Given the description of an element on the screen output the (x, y) to click on. 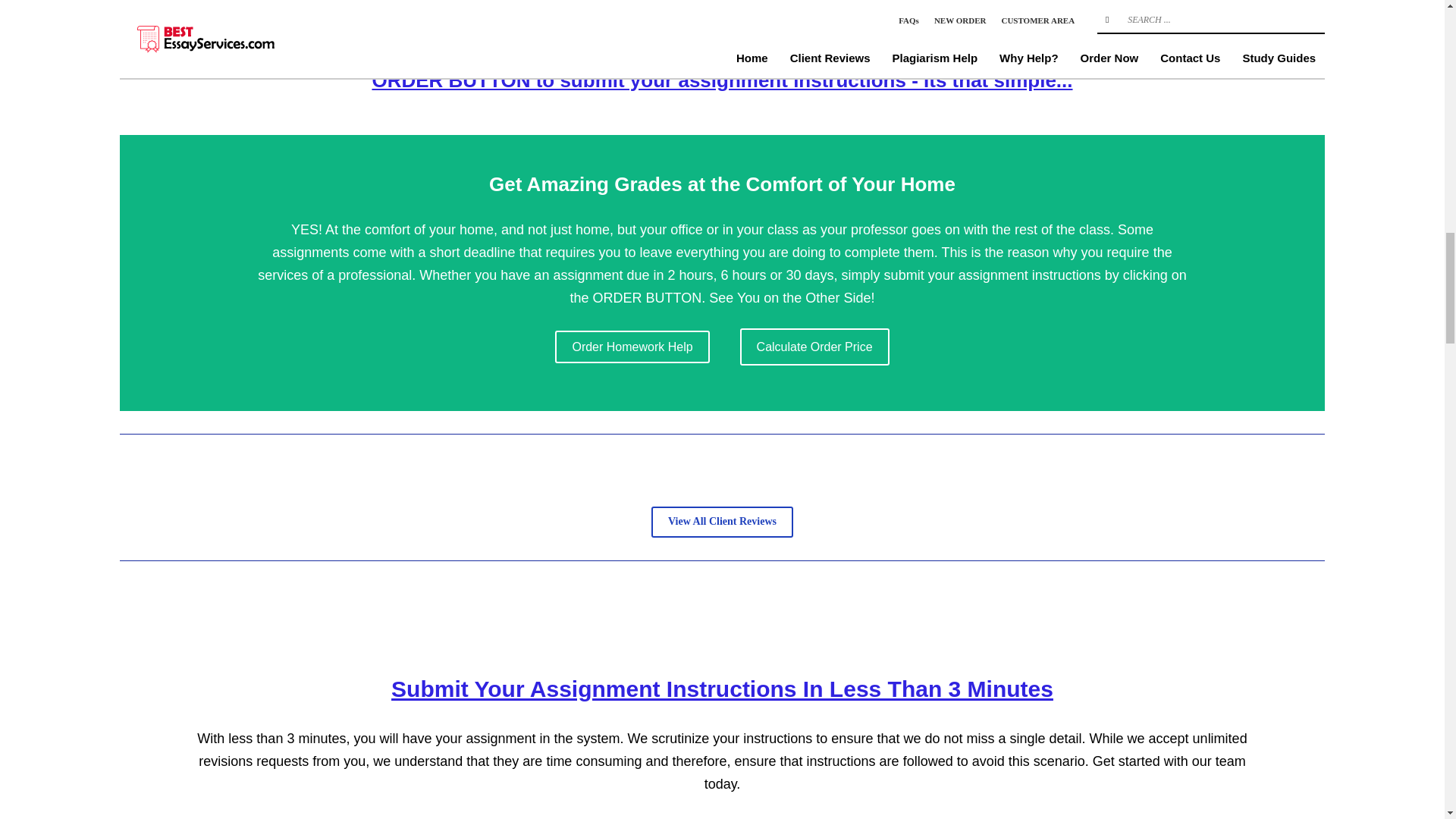
Calculate Order Price (814, 346)
View All Client Reviews (721, 521)
Order Homework Help (631, 346)
